Given the description of an element on the screen output the (x, y) to click on. 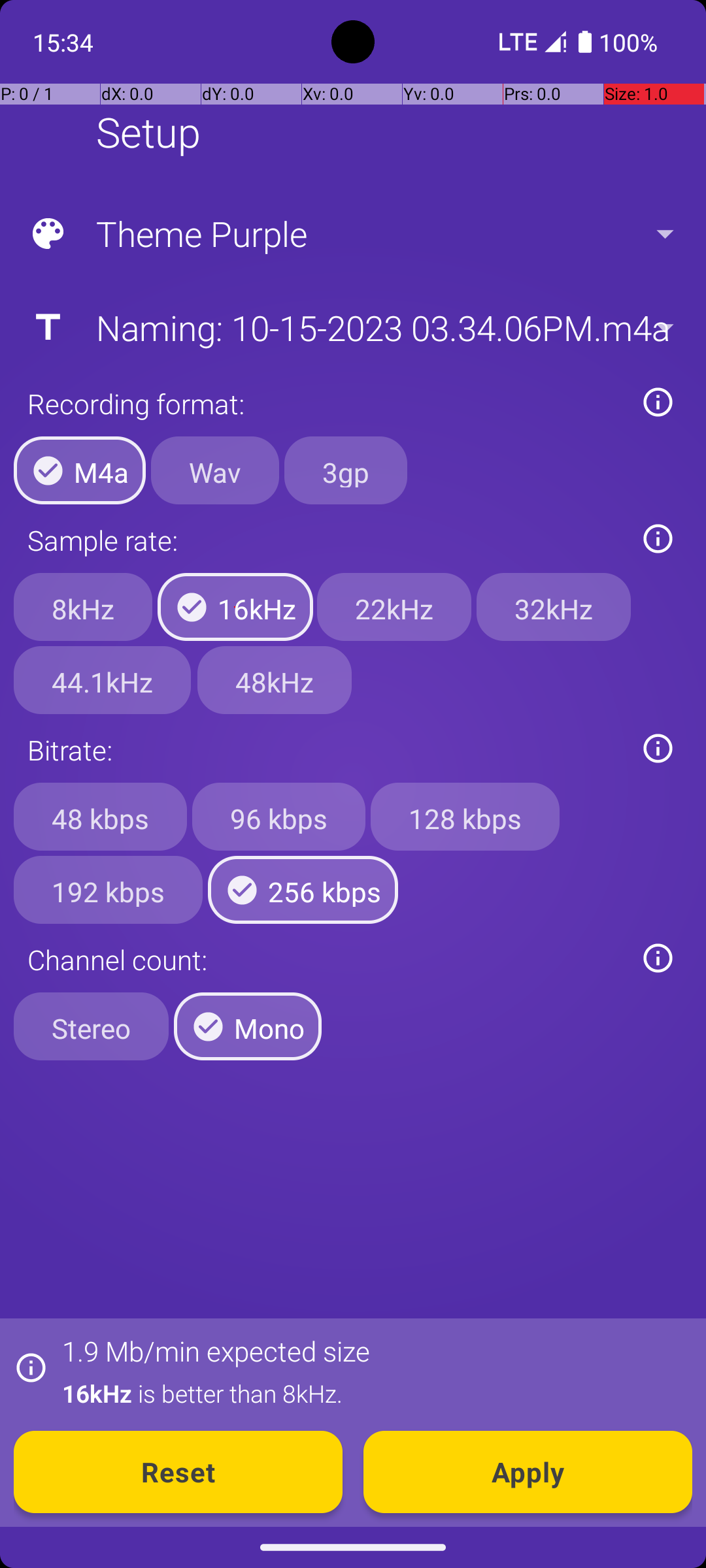
1.9 Mb/min expected size Element type: android.widget.TextView (215, 1350)
16kHz is better than 8kHz. Element type: android.widget.TextView (370, 1392)
Theme Purple Element type: android.widget.TextView (352, 233)
Naming: 10-15-2023 03.34.06PM.m4a Element type: android.widget.TextView (352, 327)
